Given the description of an element on the screen output the (x, y) to click on. 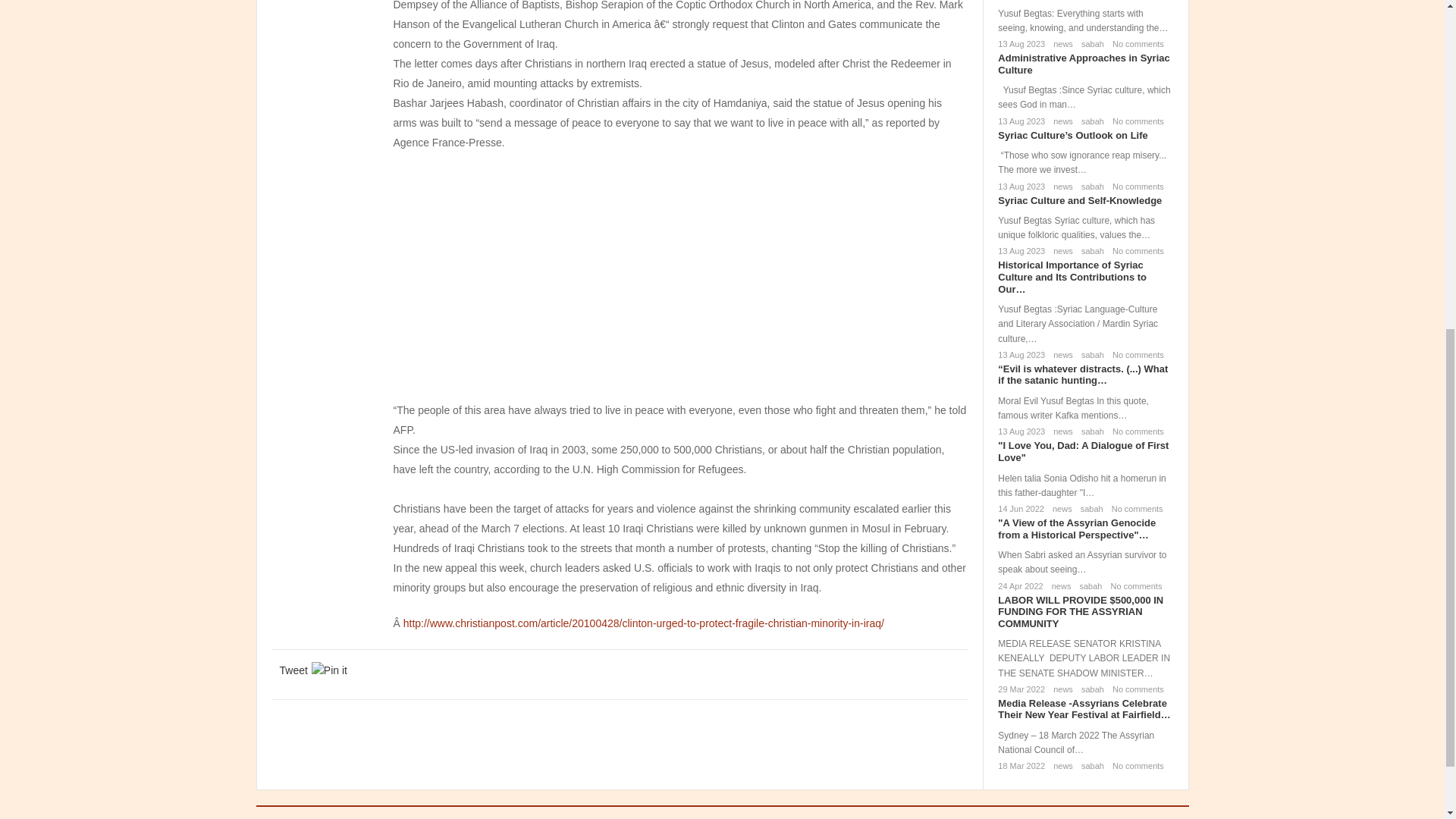
Advertisement (680, 274)
Administrative Approaches in Syriac Culture (1083, 64)
Pin it (329, 669)
Tweet (293, 669)
